Given the description of an element on the screen output the (x, y) to click on. 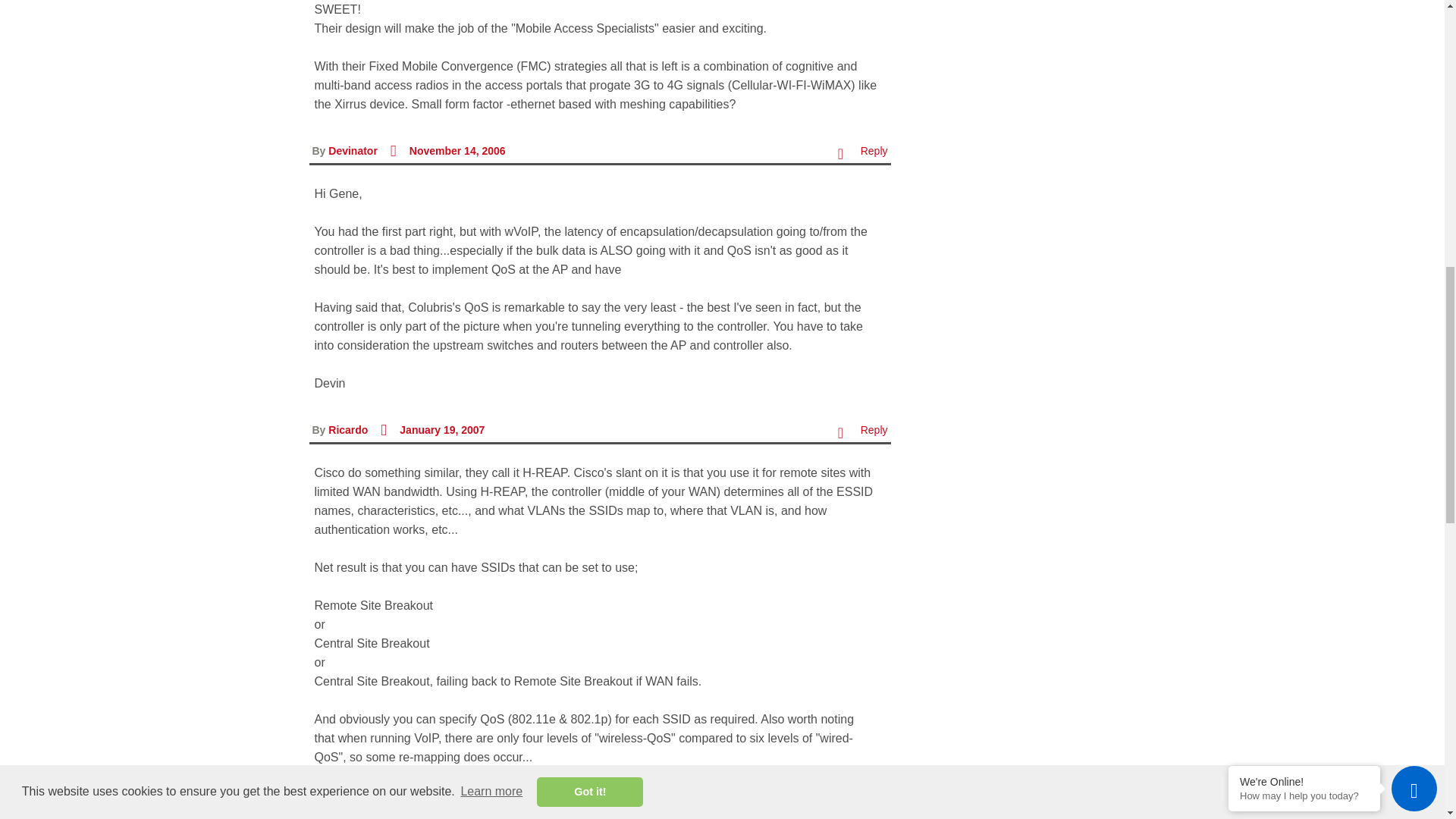
Jan 19th, 2007 11:08 pm (441, 429)
Nov 14th, 2006 7:17 am (457, 150)
